Given the description of an element on the screen output the (x, y) to click on. 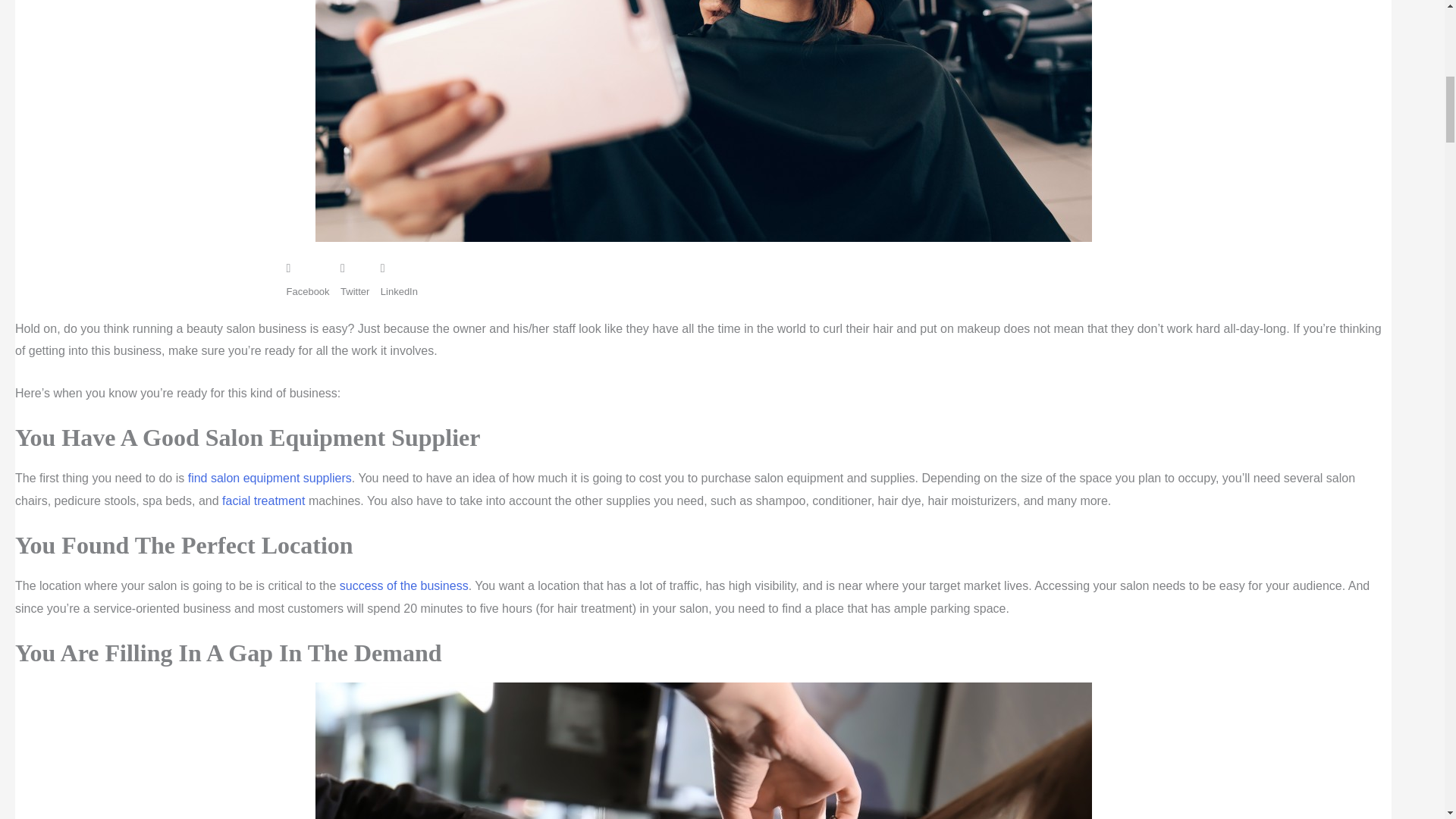
find salon equipment suppliers (269, 477)
PJS Beauty Salon Equipment (269, 477)
Entrepreneur (403, 585)
success of the business (403, 585)
facial treatment (263, 500)
